Given the description of an element on the screen output the (x, y) to click on. 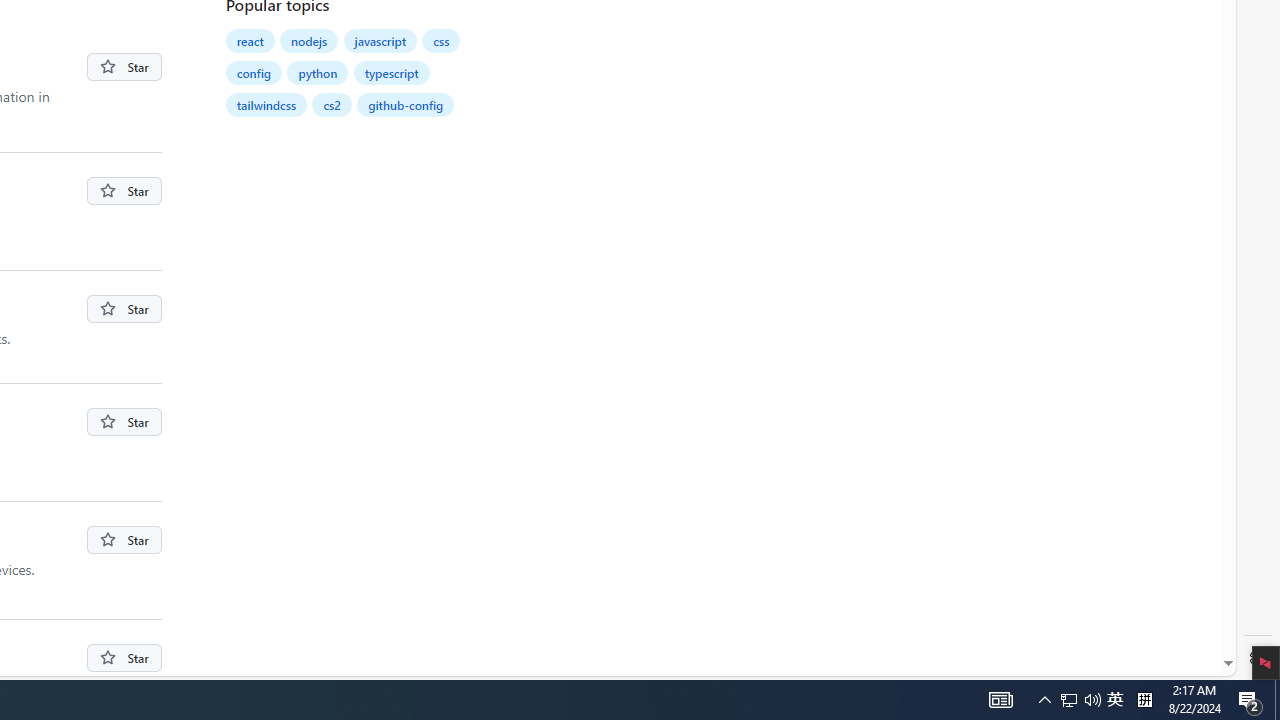
css (441, 40)
nodejs (309, 40)
cs2 (332, 104)
tailwindcss (266, 104)
config (253, 72)
python (317, 72)
You must be signed in to star a repository (124, 657)
nodejs (310, 40)
github-config (406, 104)
react (250, 40)
javascript (380, 40)
python (317, 72)
react (250, 40)
css (442, 40)
javascript (380, 40)
